Given the description of an element on the screen output the (x, y) to click on. 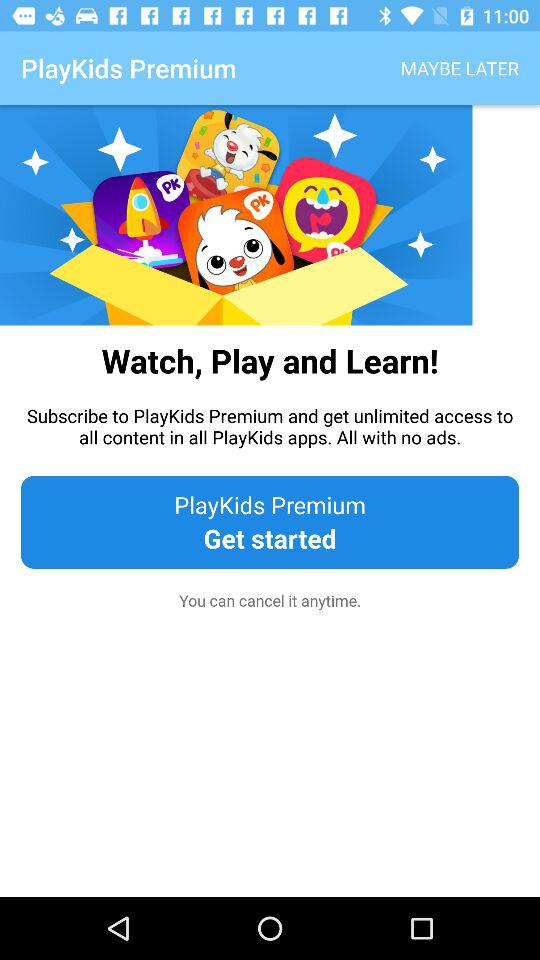
jump to maybe later (459, 67)
